Given the description of an element on the screen output the (x, y) to click on. 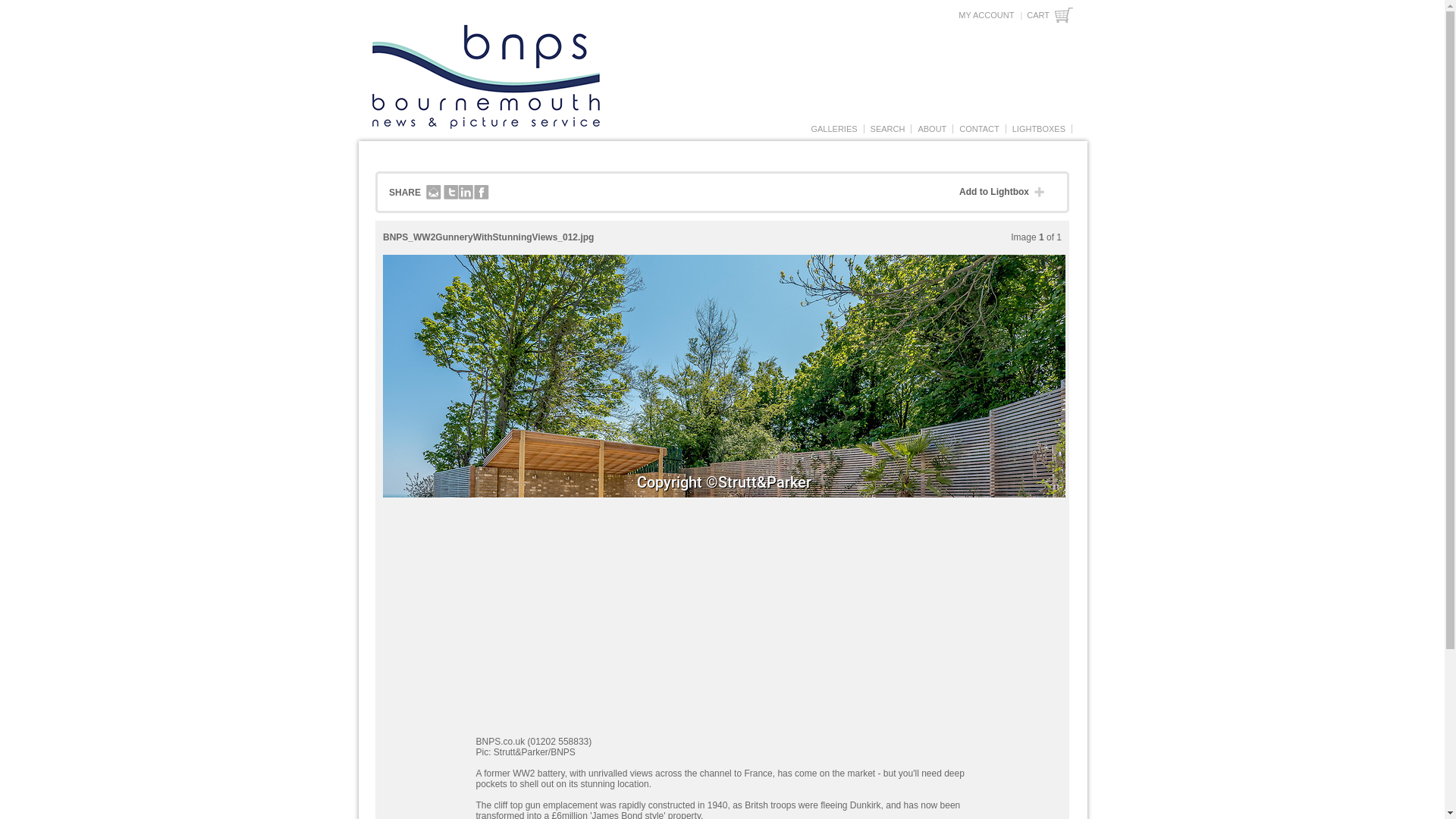
Add to Lightbox (1005, 192)
Search (887, 128)
ABOUT (932, 128)
Galleries (833, 128)
Lightbox (1038, 128)
Contact (979, 128)
About (932, 128)
My Account (986, 15)
CART (1049, 14)
GALLERIES (833, 128)
